Given the description of an element on the screen output the (x, y) to click on. 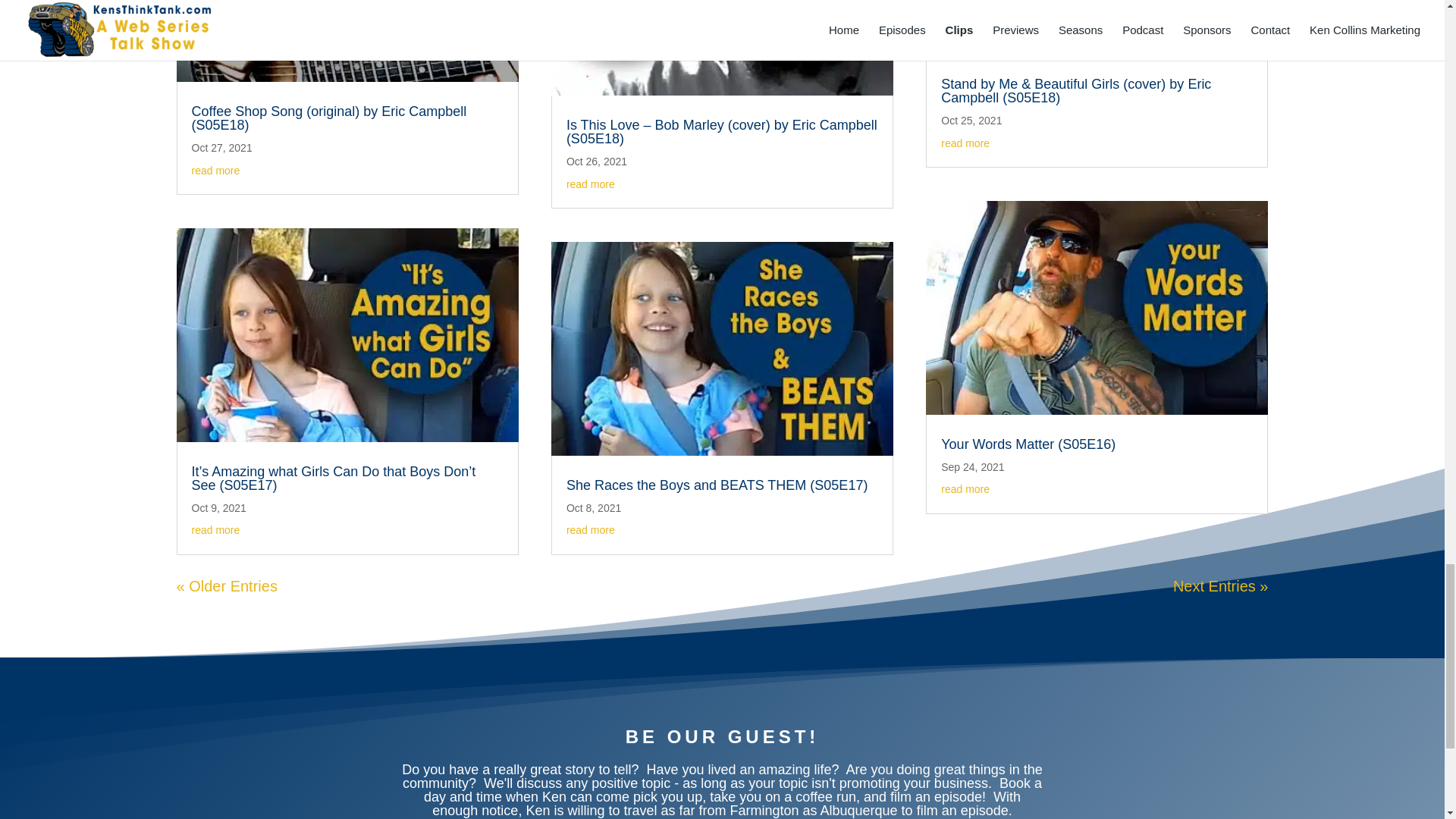
read more (215, 170)
read more (215, 530)
